Given the description of an element on the screen output the (x, y) to click on. 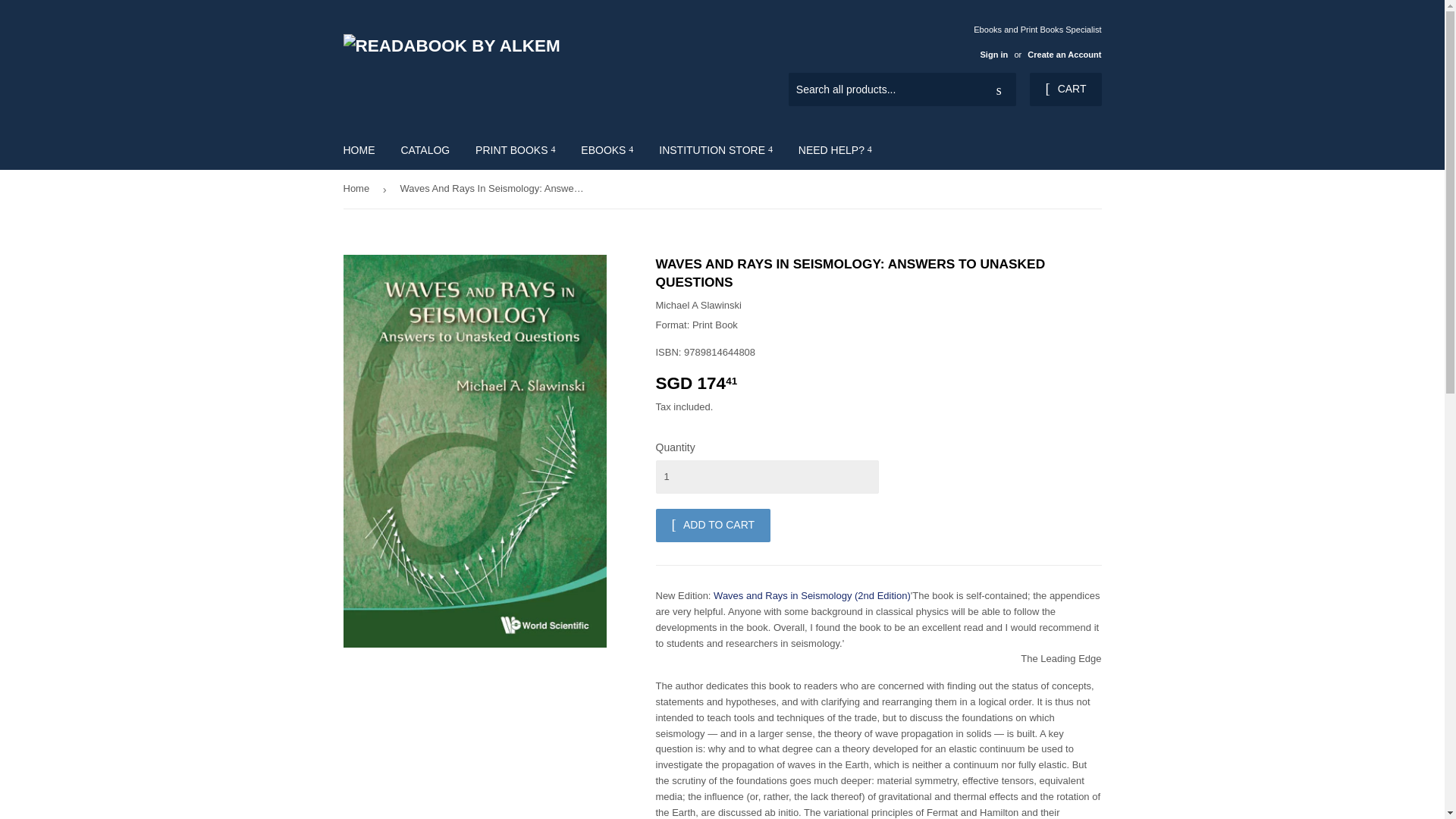
Search (998, 90)
Create an Account (1063, 53)
1 (766, 476)
CART (1064, 89)
Sign in (993, 53)
